Given the description of an element on the screen output the (x, y) to click on. 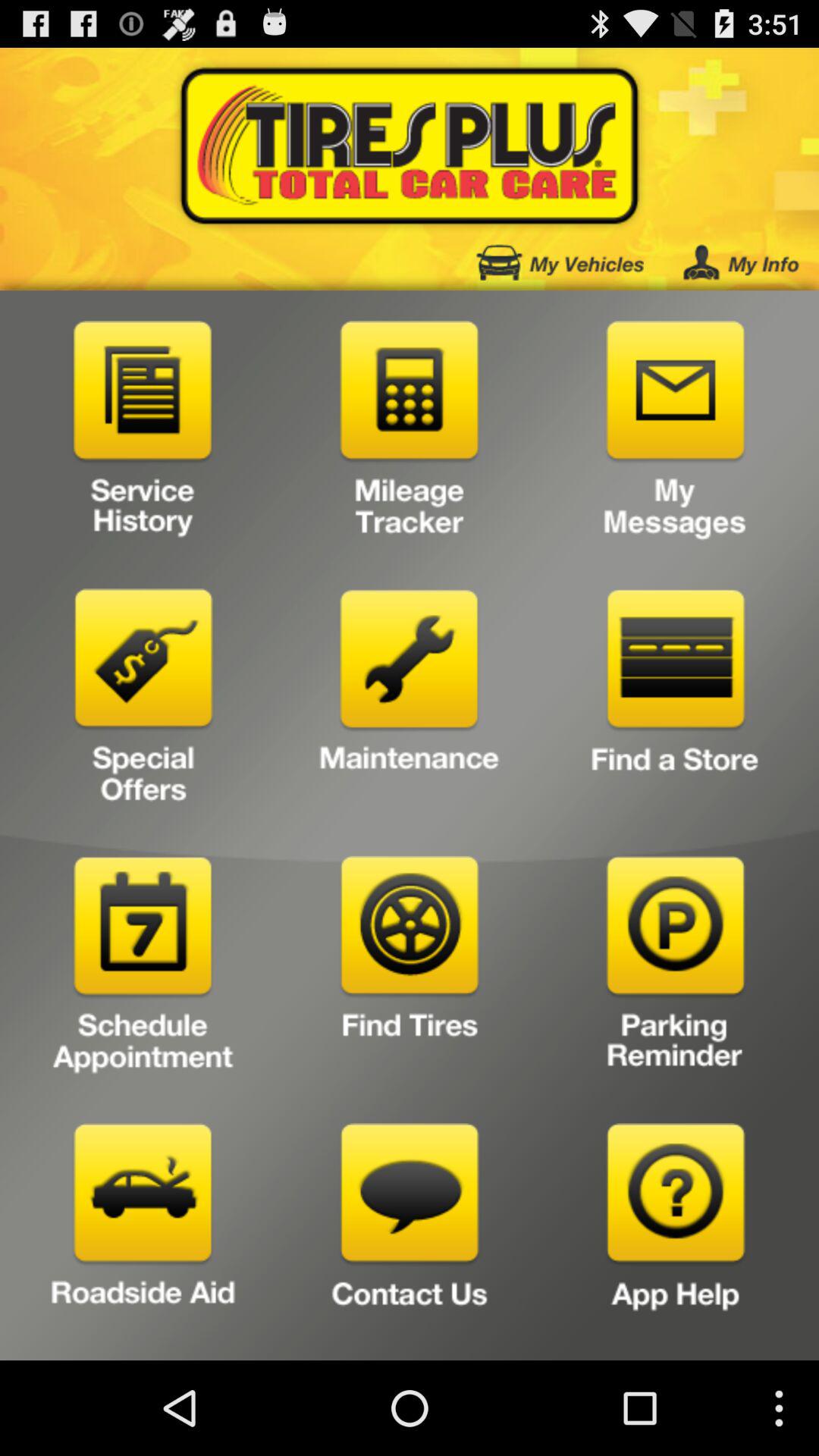
to view your messages from tire plus (675, 434)
